Given the description of an element on the screen output the (x, y) to click on. 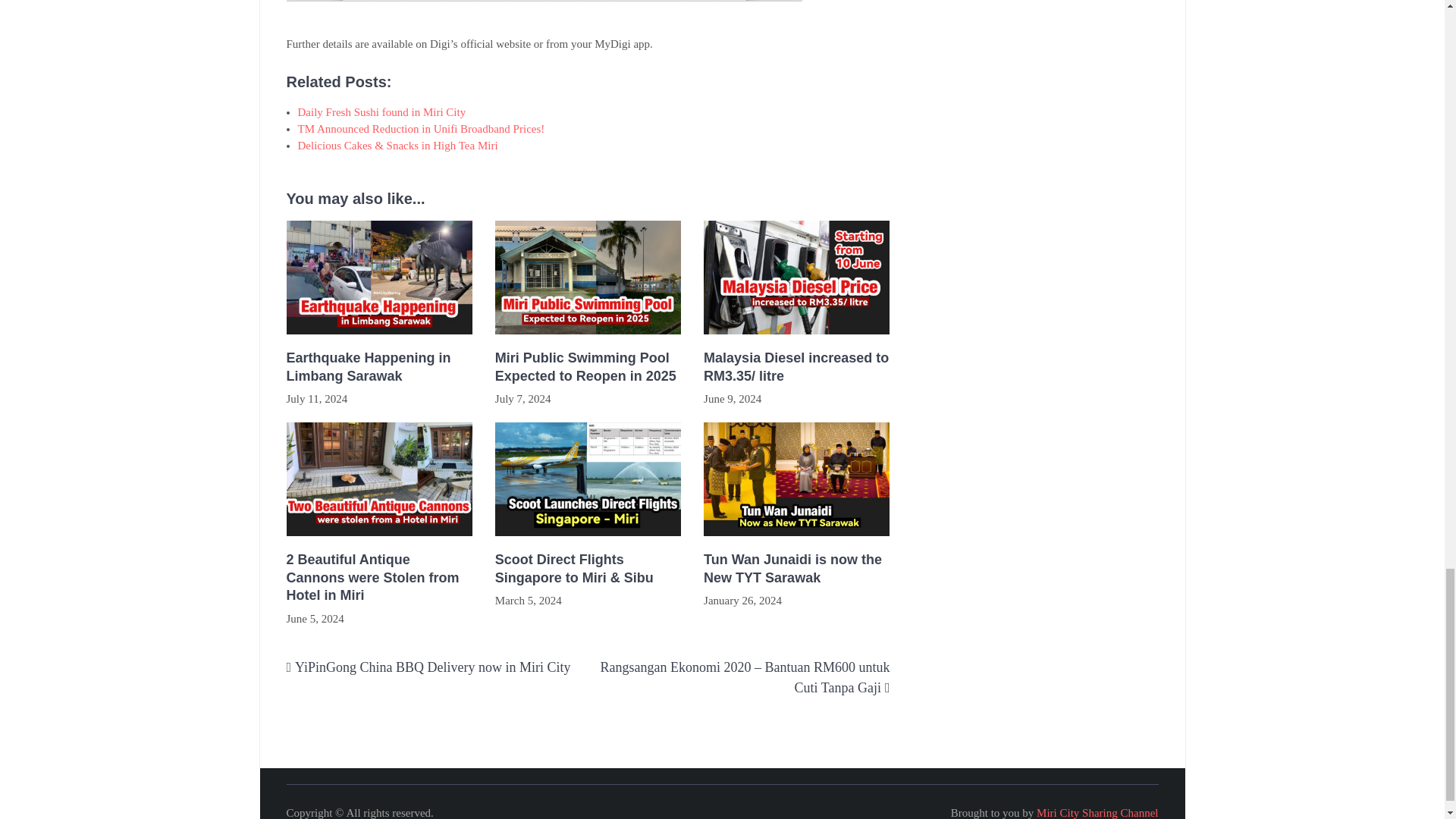
YiPinGong China BBQ Delivery now in Miri City (432, 667)
Miri Public Swimming Pool Expected to Reopen in 2025 (588, 366)
TM Announced Reduction in Unifi Broadband Prices! (420, 128)
Daily Fresh Sushi found in Miri City (381, 111)
2 Beautiful Antique Cannons were Stolen from Hotel in Miri (378, 577)
Tun Wan Junaidi is now the New TYT Sarawak (796, 569)
Earthquake Happening in Limbang Sarawak (378, 366)
